Given the description of an element on the screen output the (x, y) to click on. 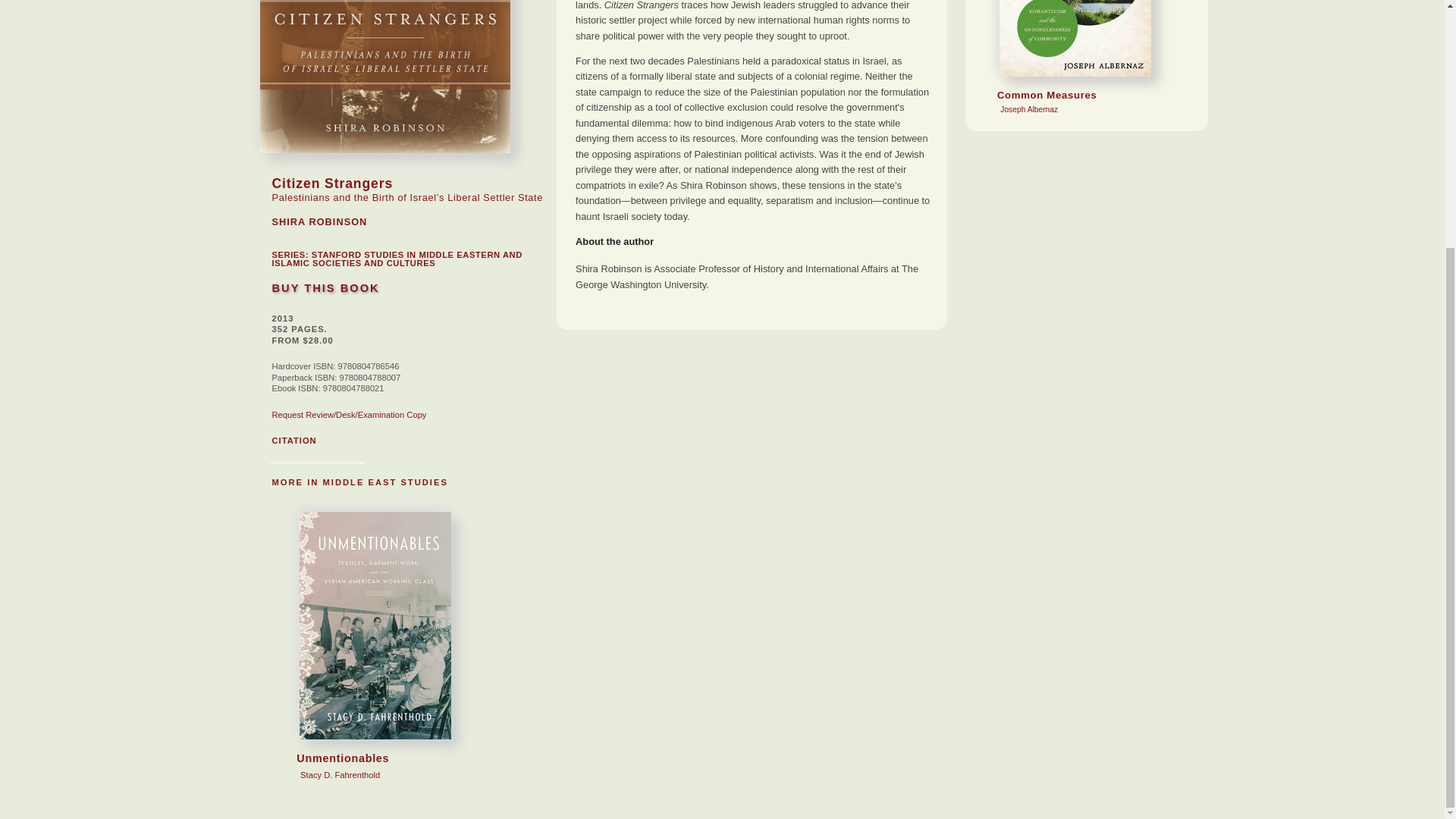
BUY THIS BOOK (324, 287)
CITATION (369, 699)
MORE IN MIDDLE EAST STUDIES (292, 440)
